Given the description of an element on the screen output the (x, y) to click on. 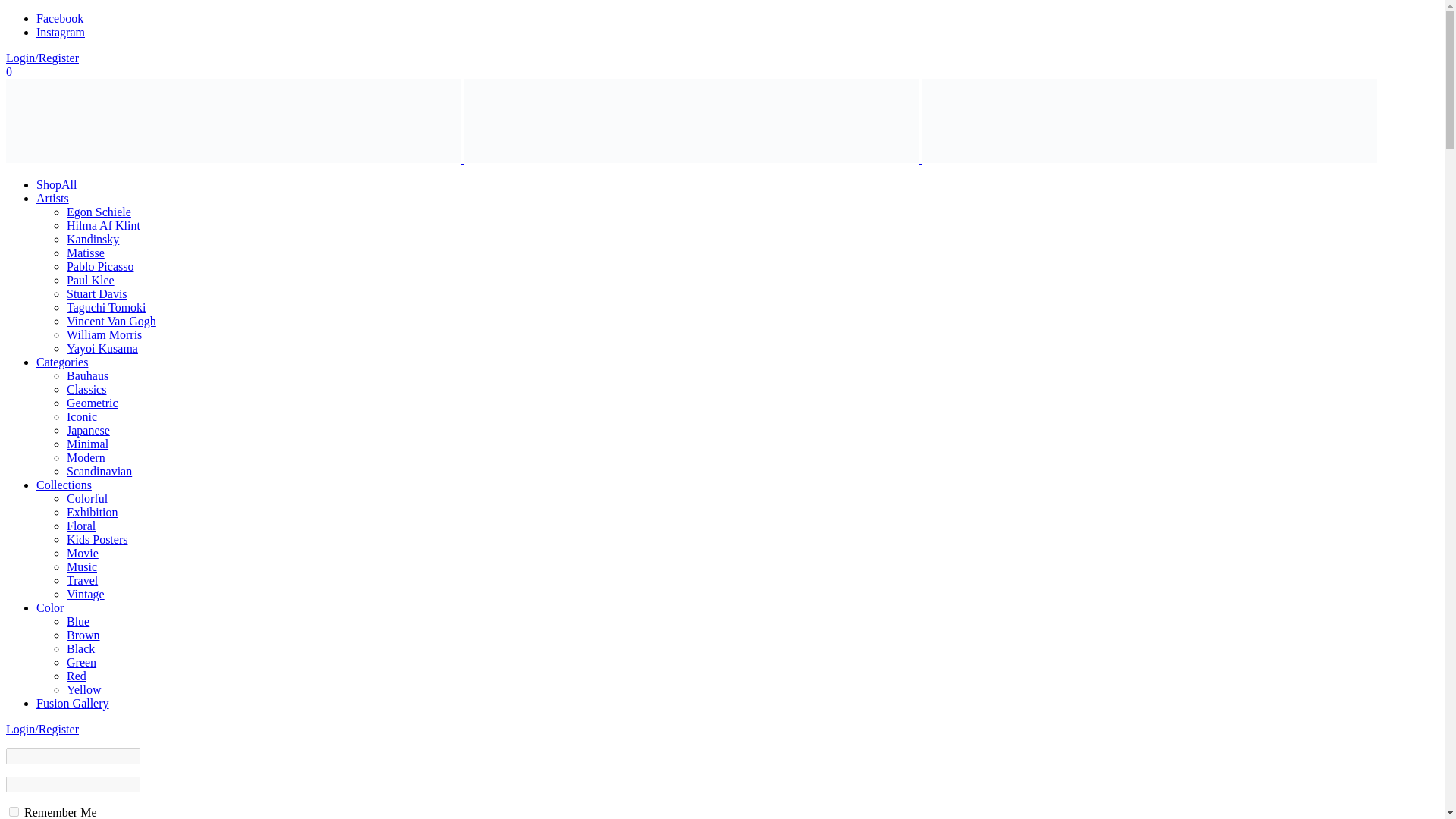
Stuart Davis (97, 293)
Geometric (91, 402)
My Account (41, 57)
Vincent Van Gogh (110, 320)
Categories (61, 361)
Hilma Af Klint (102, 225)
Pablo Picasso (99, 266)
Brown (83, 634)
forever (13, 811)
Egon Schiele (98, 211)
